Given the description of an element on the screen output the (x, y) to click on. 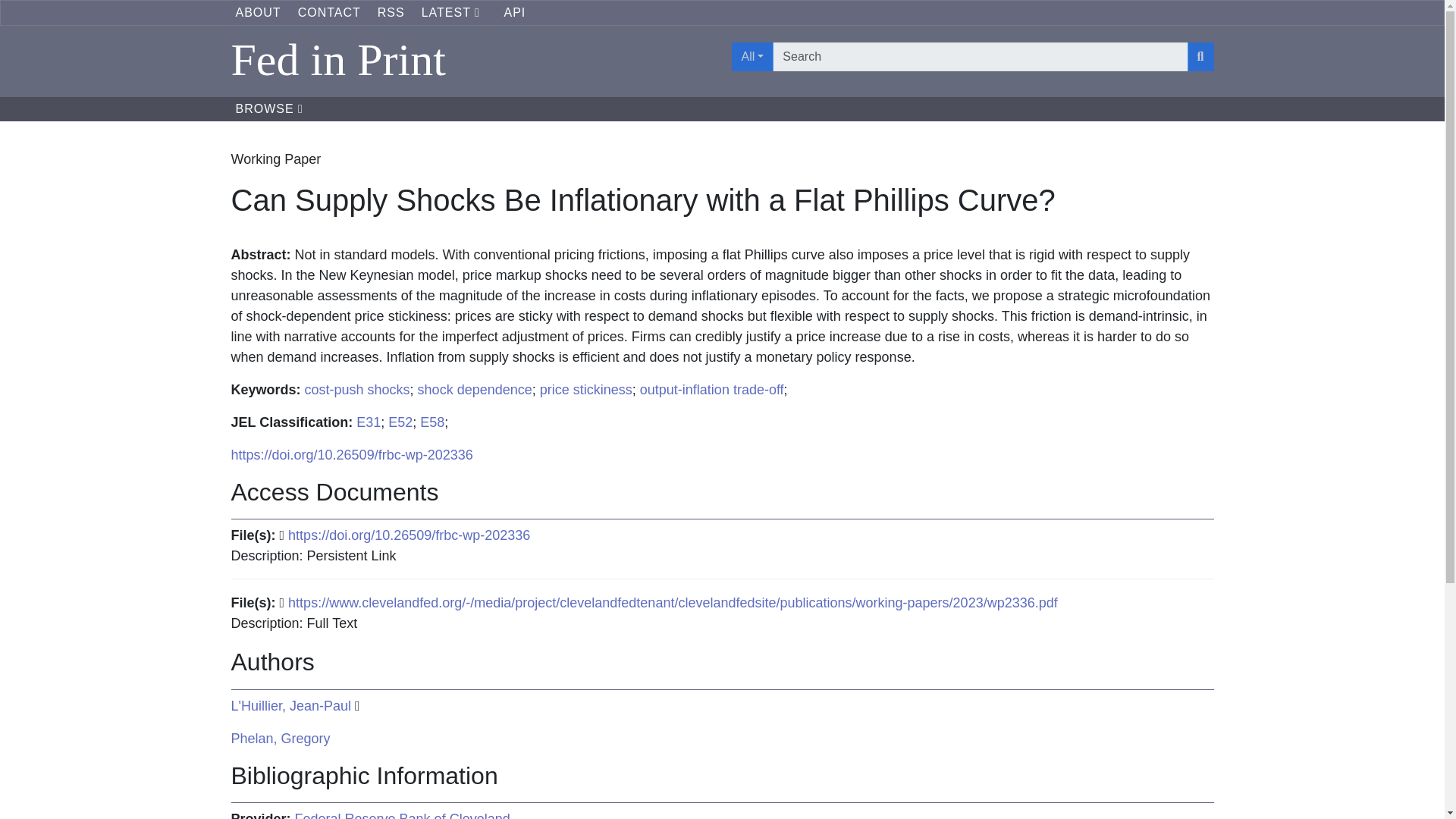
BROWSE (268, 108)
ABOUT (257, 11)
E31 (368, 421)
CONTACT (329, 11)
price stickiness (585, 389)
cost-push shocks (357, 389)
All (751, 56)
RSS (390, 11)
API (514, 11)
LATEST (454, 11)
